Given the description of an element on the screen output the (x, y) to click on. 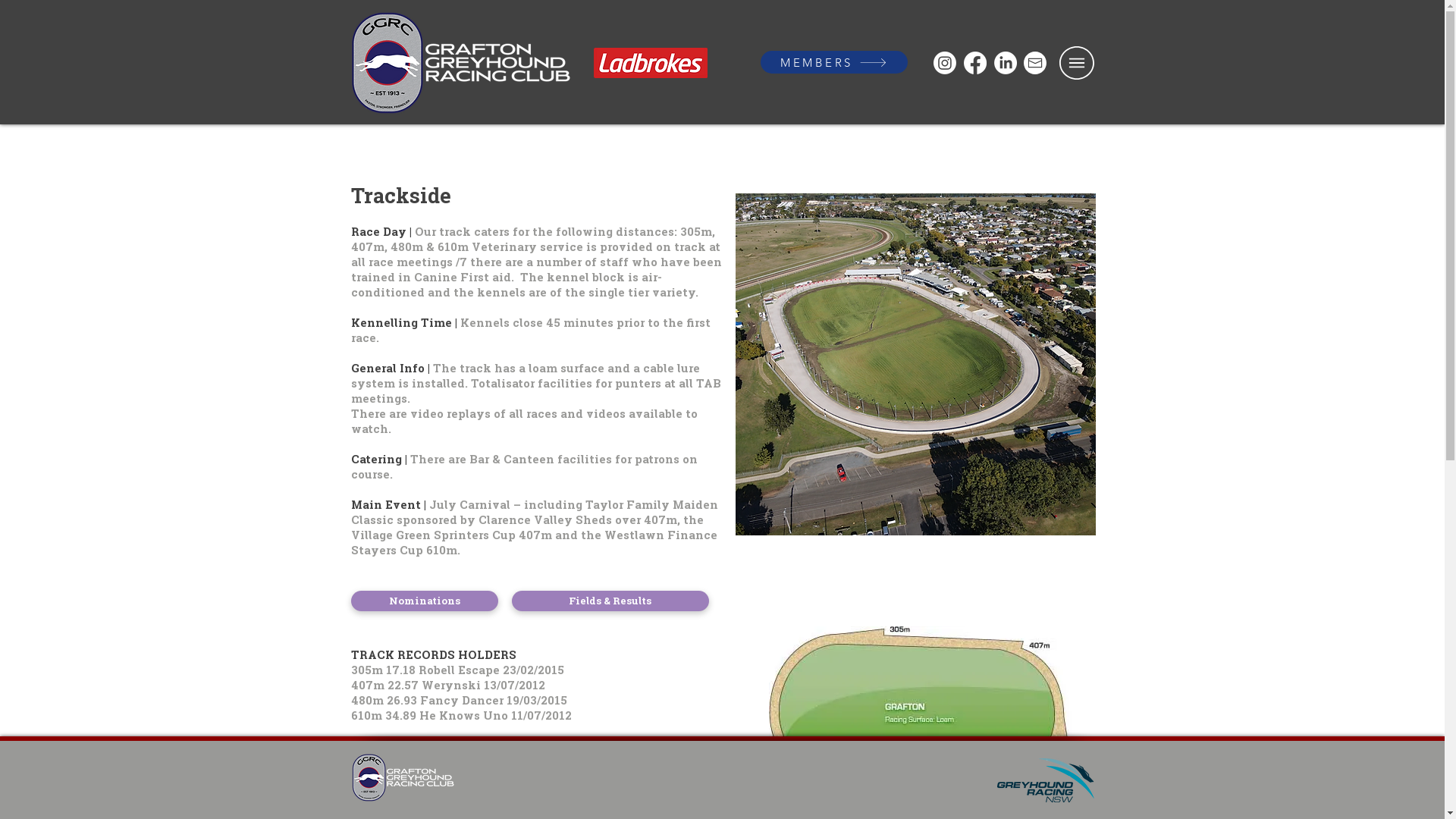
Nominations Element type: text (423, 600)
MEMBERS Element type: text (832, 61)
Fields & Results Element type: text (609, 600)
